Given the description of an element on the screen output the (x, y) to click on. 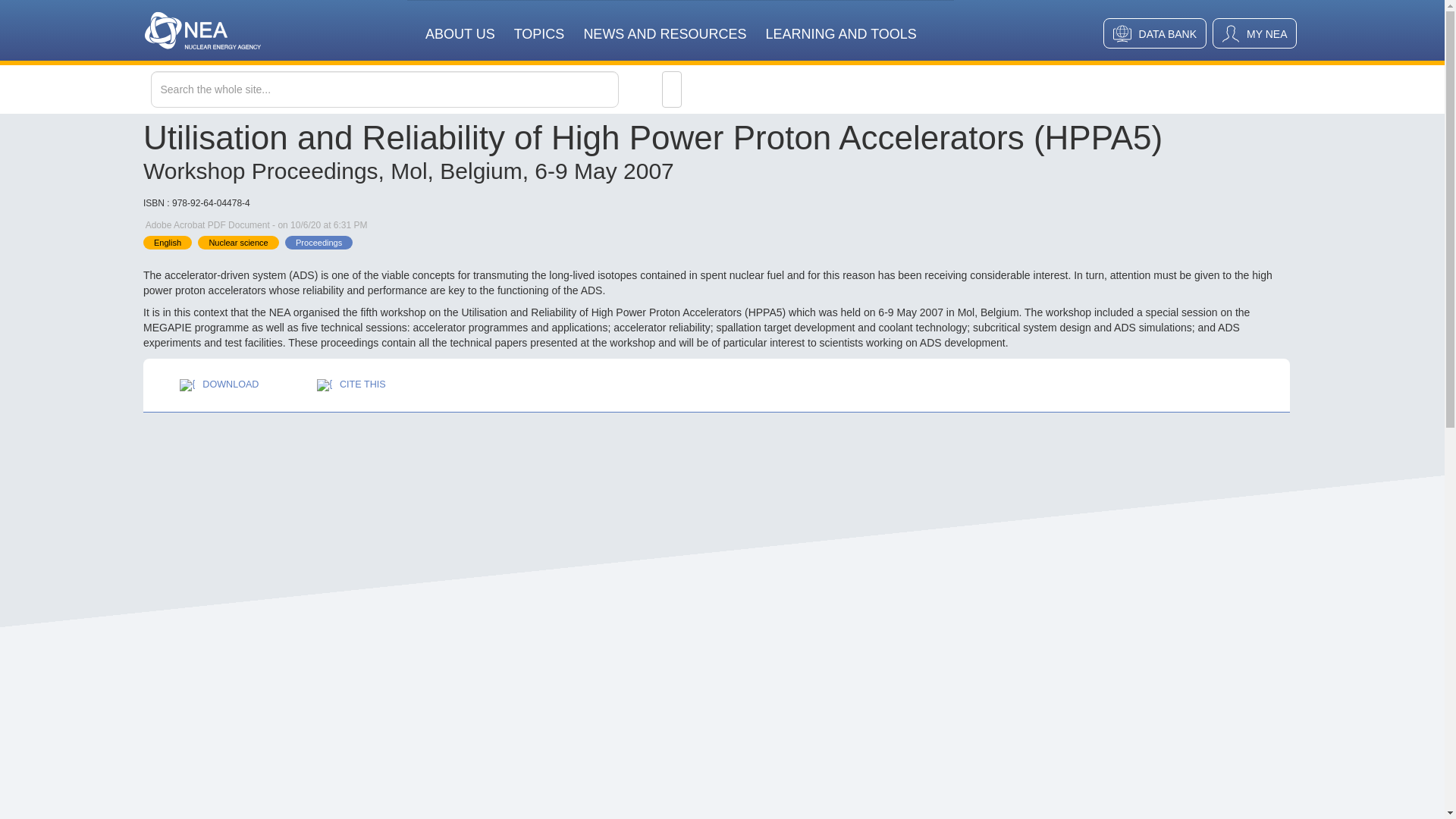
CITE THIS (351, 385)
LEARNING AND TOOLS (840, 23)
NEWS AND RESOURCES (664, 23)
Nuclear science (238, 242)
DATA BANK (1155, 33)
ABOUT US (460, 23)
Proceedings (318, 242)
Search the whole site... (415, 89)
English (167, 242)
MY NEA (1254, 33)
